Given the description of an element on the screen output the (x, y) to click on. 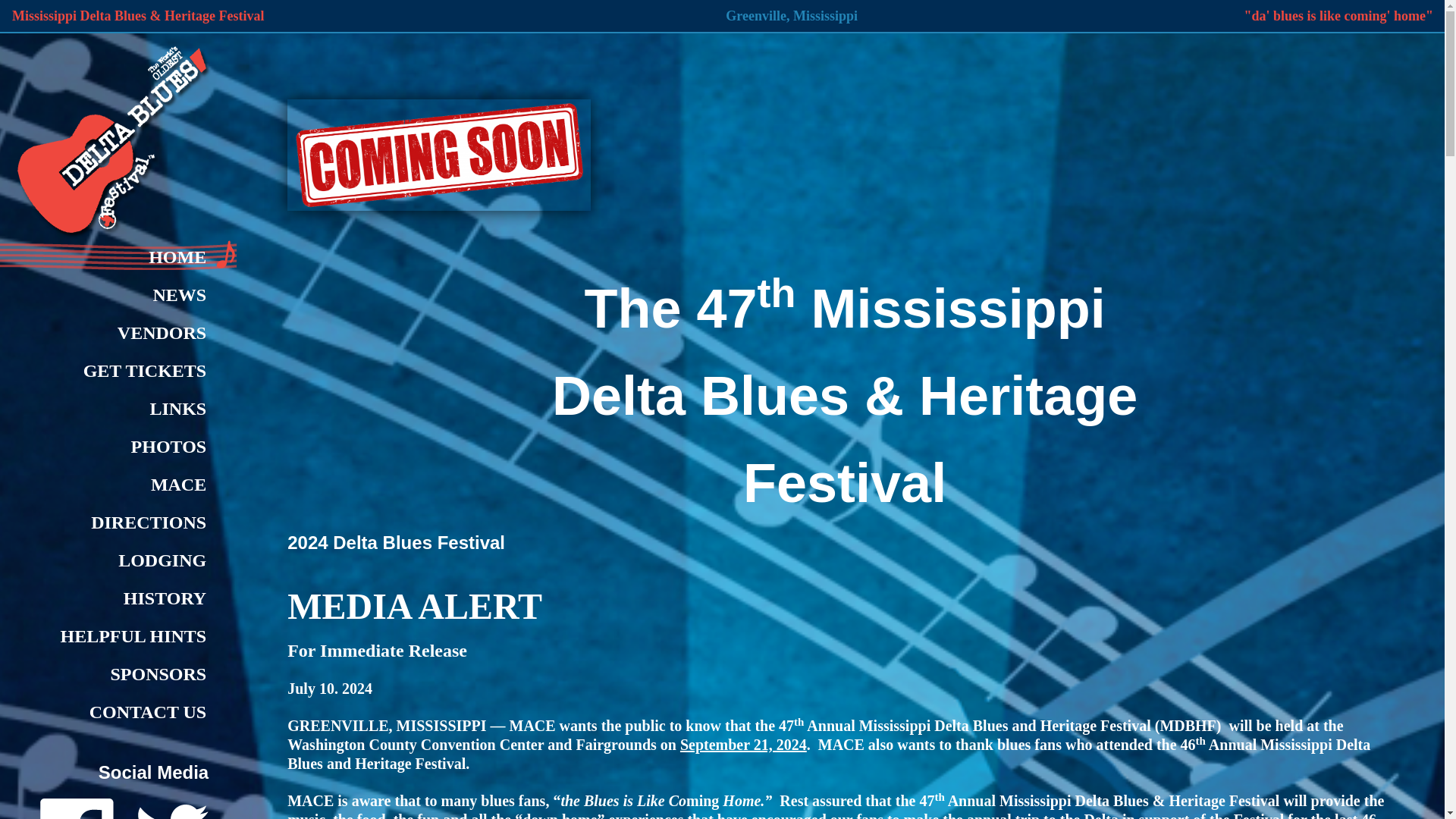
SPONSORS (141, 670)
LINKS (141, 404)
PHOTOS (141, 442)
CONTACT US (141, 708)
HELPFUL HINTS (141, 632)
HOME (141, 253)
NEWS (141, 290)
DIRECTIONS (141, 518)
HISTORY (141, 594)
LODGING (141, 556)
MACE (141, 480)
GET TICKETS (141, 366)
VENDORS (141, 329)
